Given the description of an element on the screen output the (x, y) to click on. 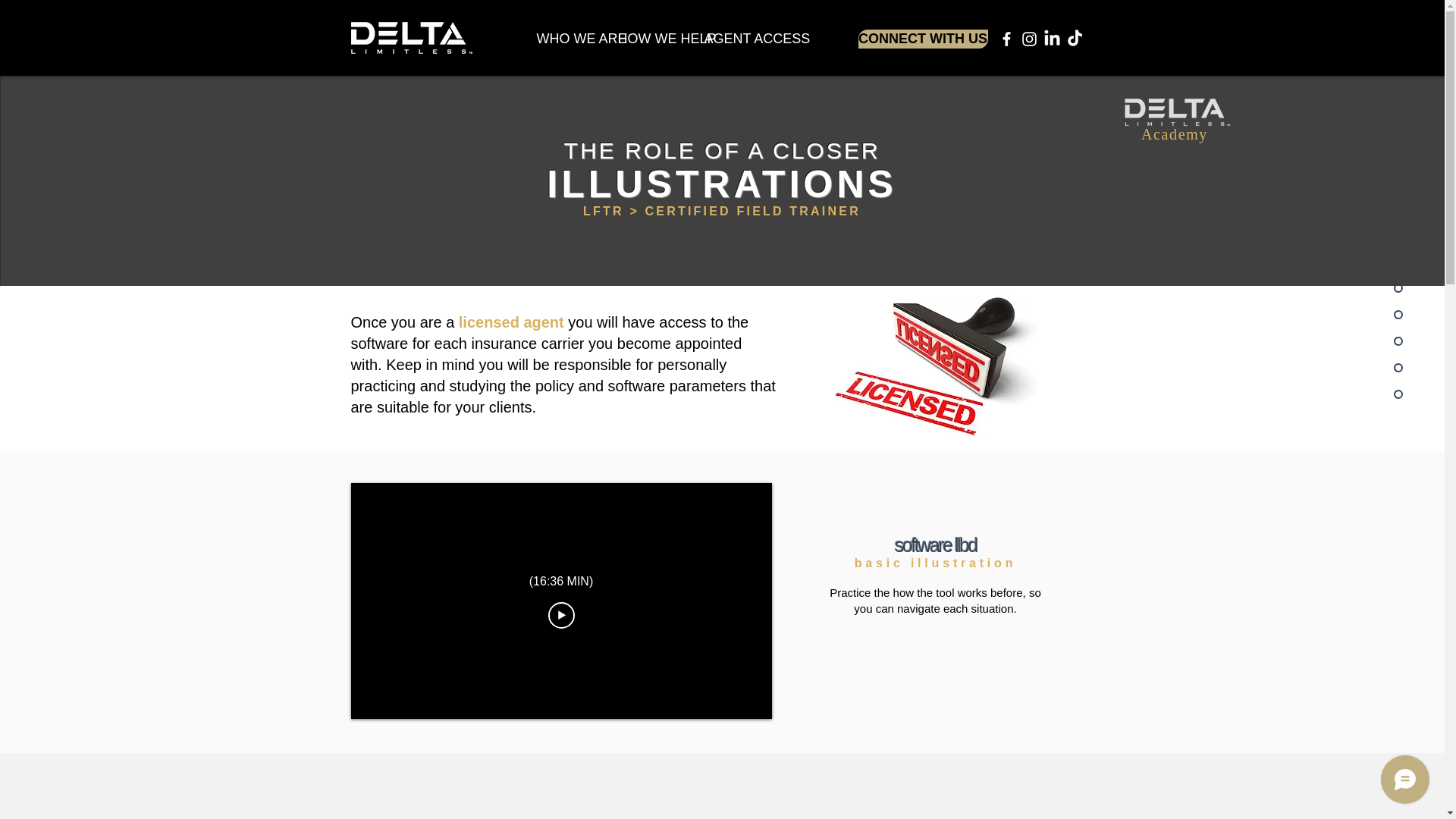
WHO WE ARE (569, 38)
HOW WE HELP (652, 38)
CONNECT WITH US (923, 38)
AGENT ACCESS (741, 38)
